Given the description of an element on the screen output the (x, y) to click on. 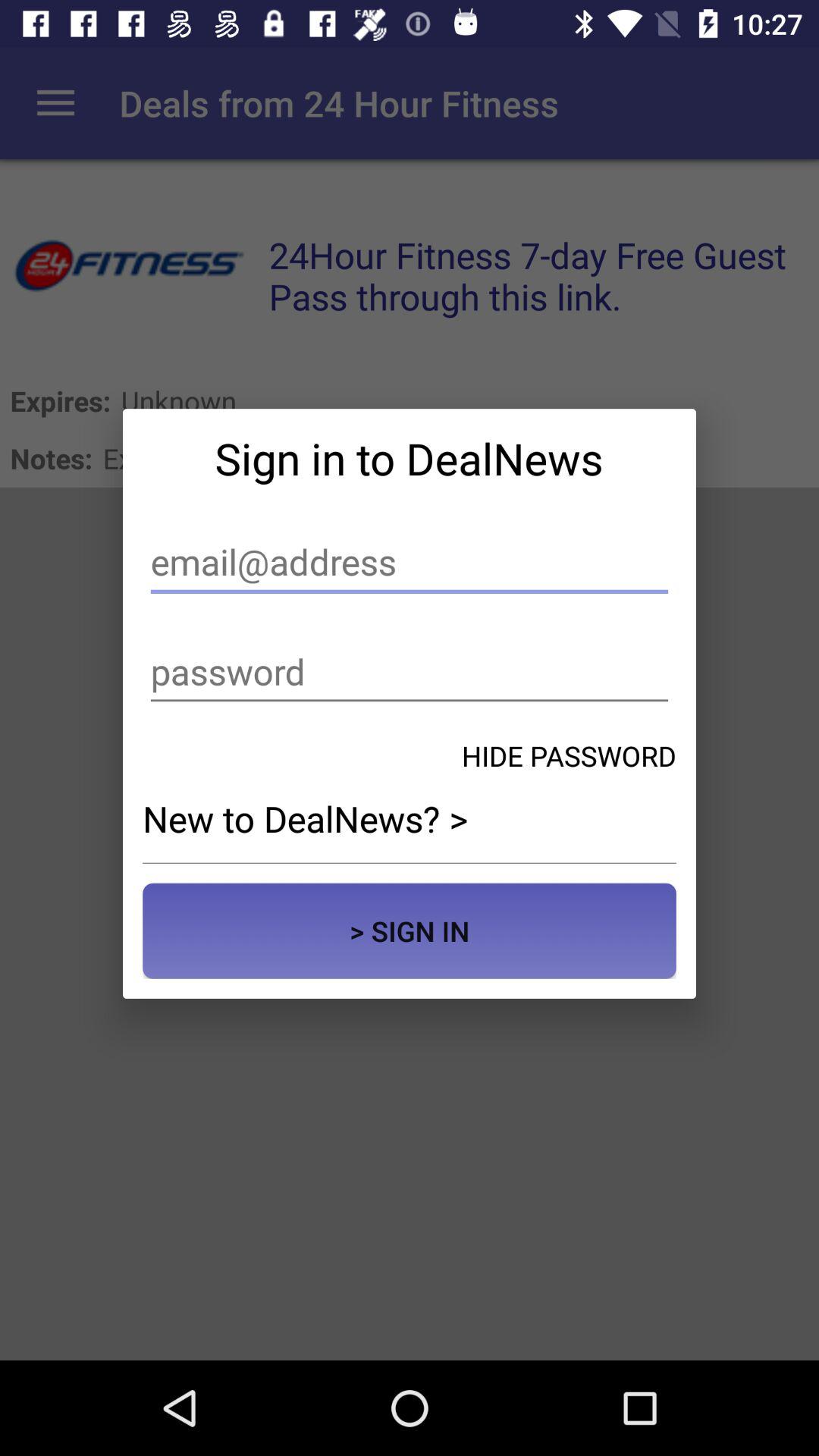
put your password (409, 672)
